Given the description of an element on the screen output the (x, y) to click on. 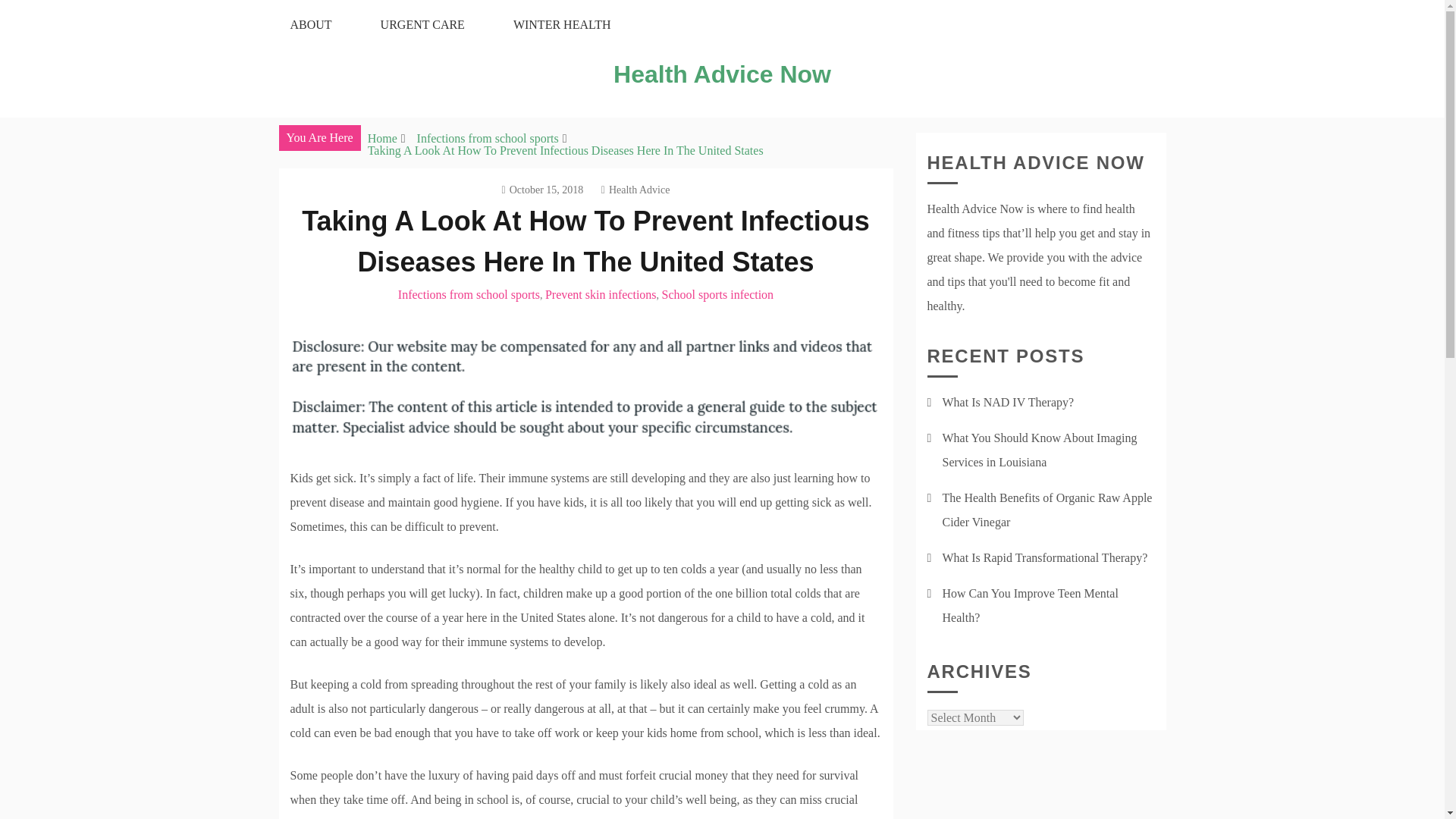
WINTER HEALTH (561, 24)
Prevent skin infections (600, 294)
Health Advice (635, 189)
What You Should Know About Imaging Services in Louisiana (1039, 449)
School sports infection (718, 294)
ABOUT (309, 24)
What Is NAD IV Therapy? (1008, 401)
How Can You Improve Teen Mental Health? (1030, 605)
October 15, 2018 (542, 189)
